Given the description of an element on the screen output the (x, y) to click on. 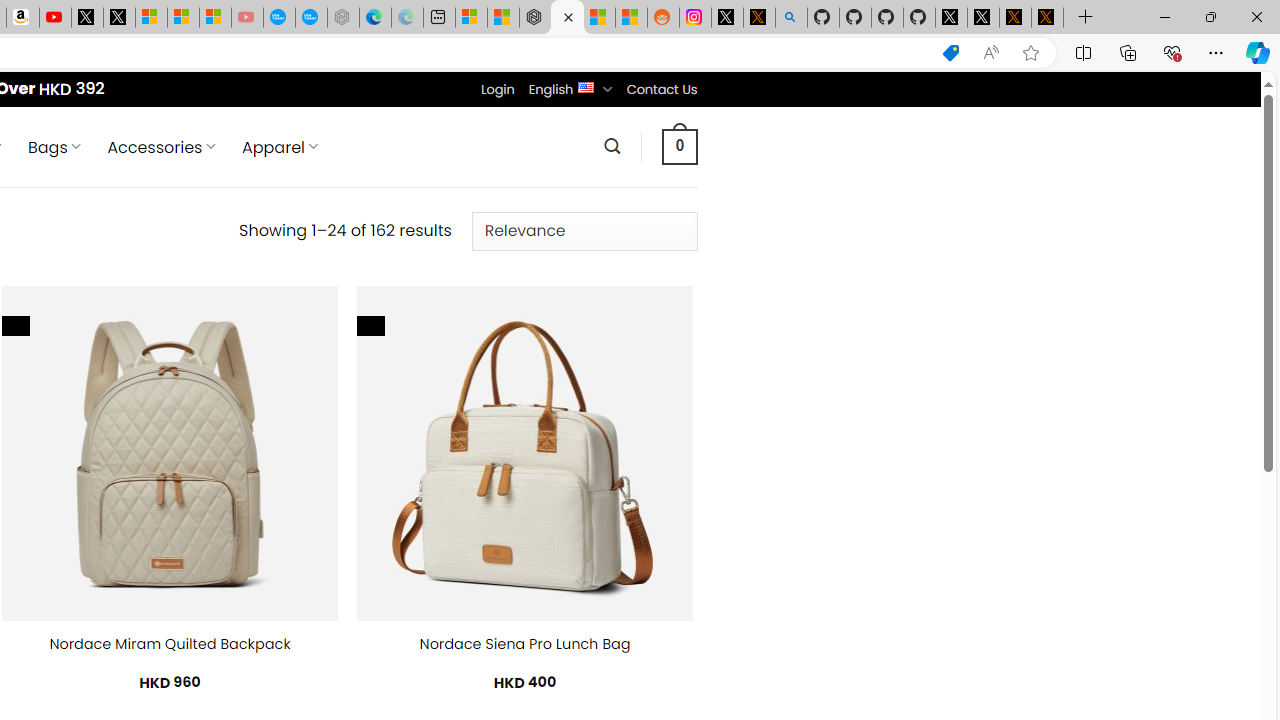
Contact Us (661, 89)
Close (1256, 16)
Nordace - You searched for (566, 17)
Day 1: Arriving in Yemen (surreal to be here) - YouTube (54, 17)
New Tab (1085, 17)
English (586, 86)
Contact Us (661, 89)
Copilot (Ctrl+Shift+.) (1258, 52)
Split screen (1083, 52)
